Given the description of an element on the screen output the (x, y) to click on. 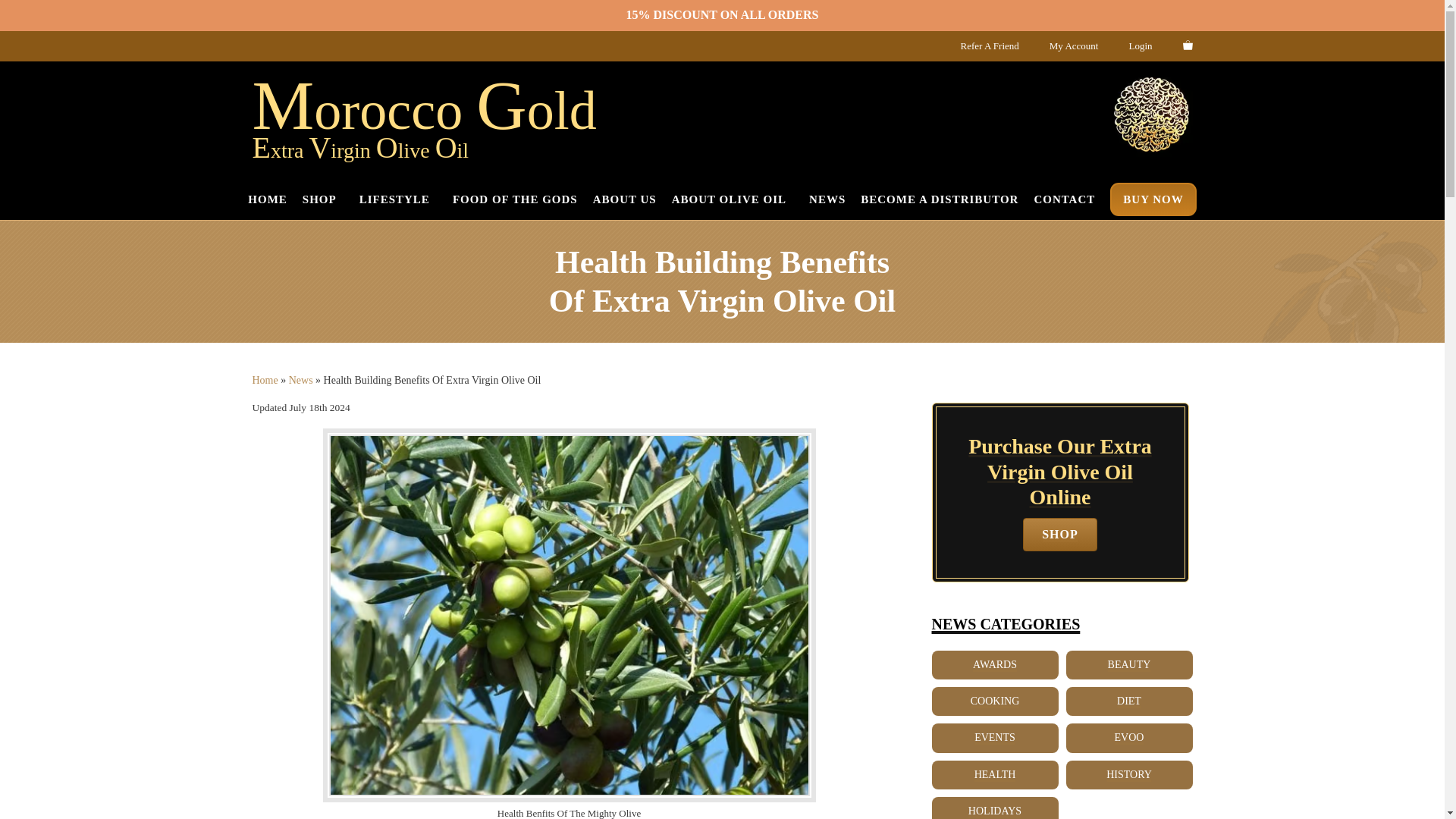
News (300, 379)
Home (264, 379)
FOOD OF THE GODS (515, 199)
ABOUT OLIVE OIL (732, 199)
ABOUT US (624, 199)
Morocco Gold (423, 110)
View your shopping cart (1187, 44)
SHOP (322, 199)
BECOME A DISTRIBUTOR (938, 199)
My Account (1073, 46)
NEWS (827, 199)
Refer A Friend (988, 46)
Login (1140, 46)
HOME (266, 199)
CONTACT (1063, 199)
